Given the description of an element on the screen output the (x, y) to click on. 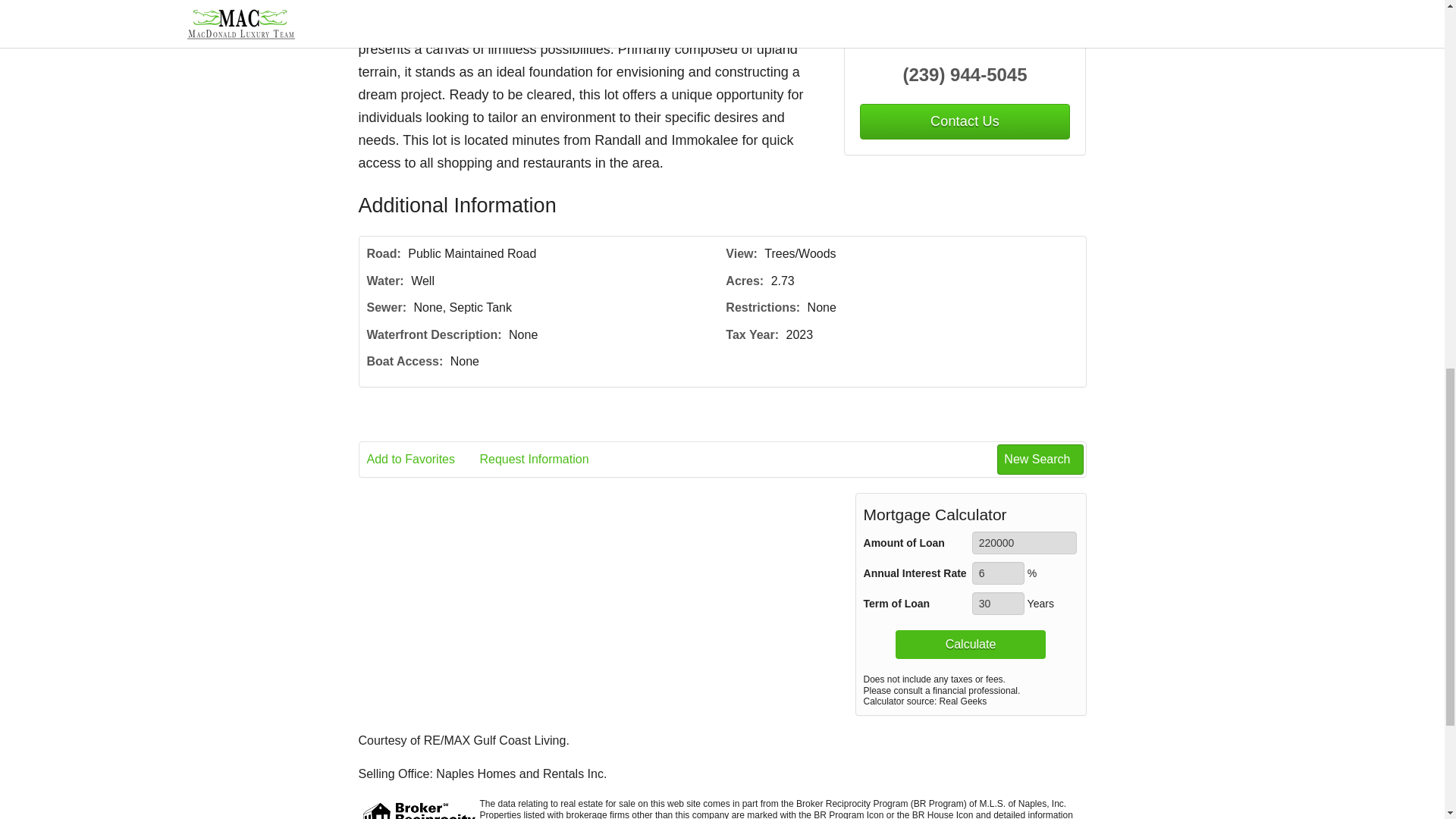
Contact Us (965, 121)
30 (998, 603)
220000 (1024, 542)
6 (998, 572)
